Given the description of an element on the screen output the (x, y) to click on. 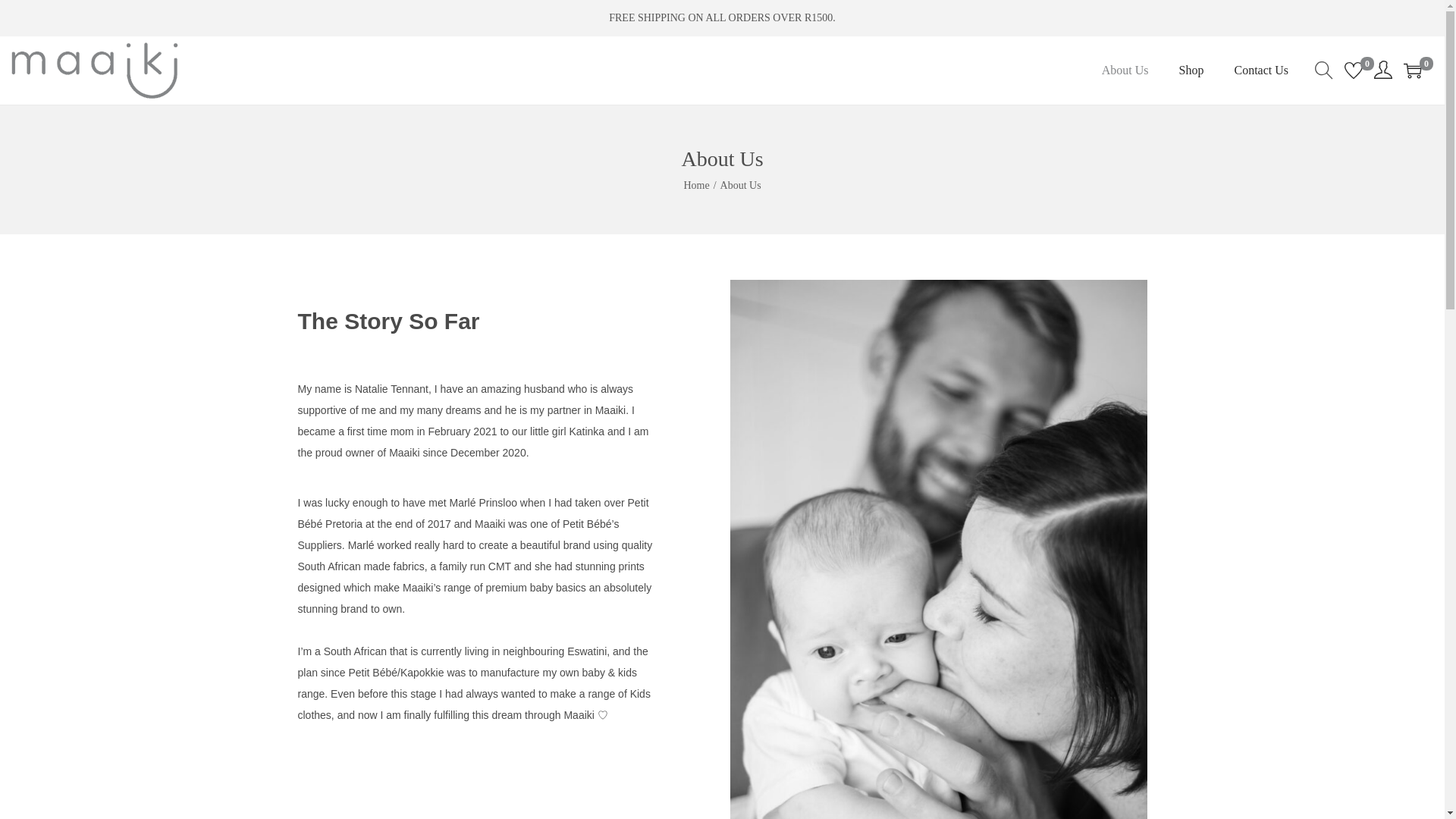
0 (1412, 70)
Home (695, 184)
0 (1352, 70)
